Given the description of an element on the screen output the (x, y) to click on. 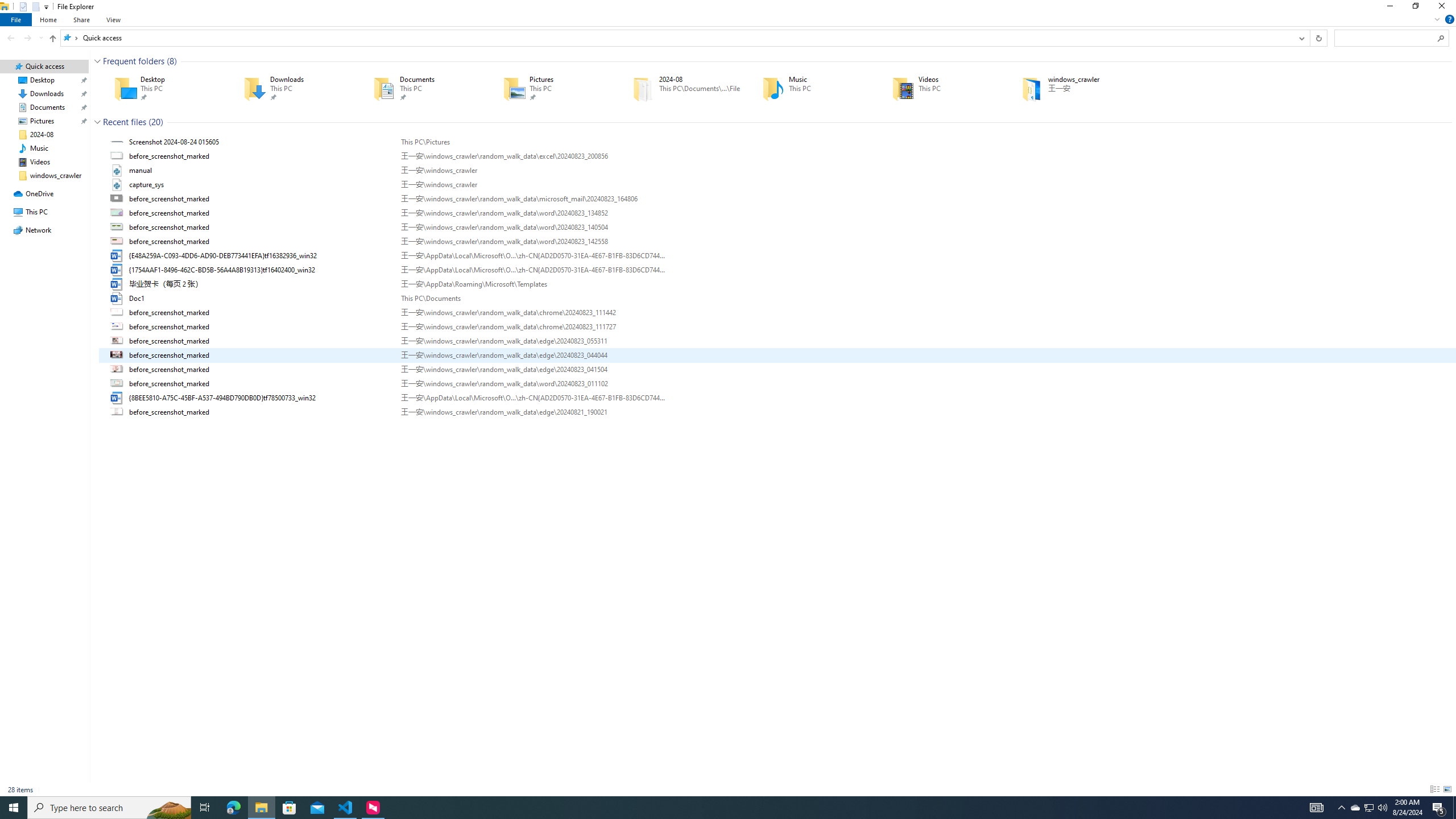
2024-08 (681, 88)
Count (155, 121)
Restore (1415, 8)
before_screenshot_marked (777, 411)
Home (48, 19)
Minimize (1388, 8)
Path (532, 411)
View (113, 19)
Collapse Group (97, 121)
Address band toolbar (1309, 37)
Search (1441, 37)
Music (810, 88)
Help (1449, 19)
Address: Quick access (676, 37)
